Given the description of an element on the screen output the (x, y) to click on. 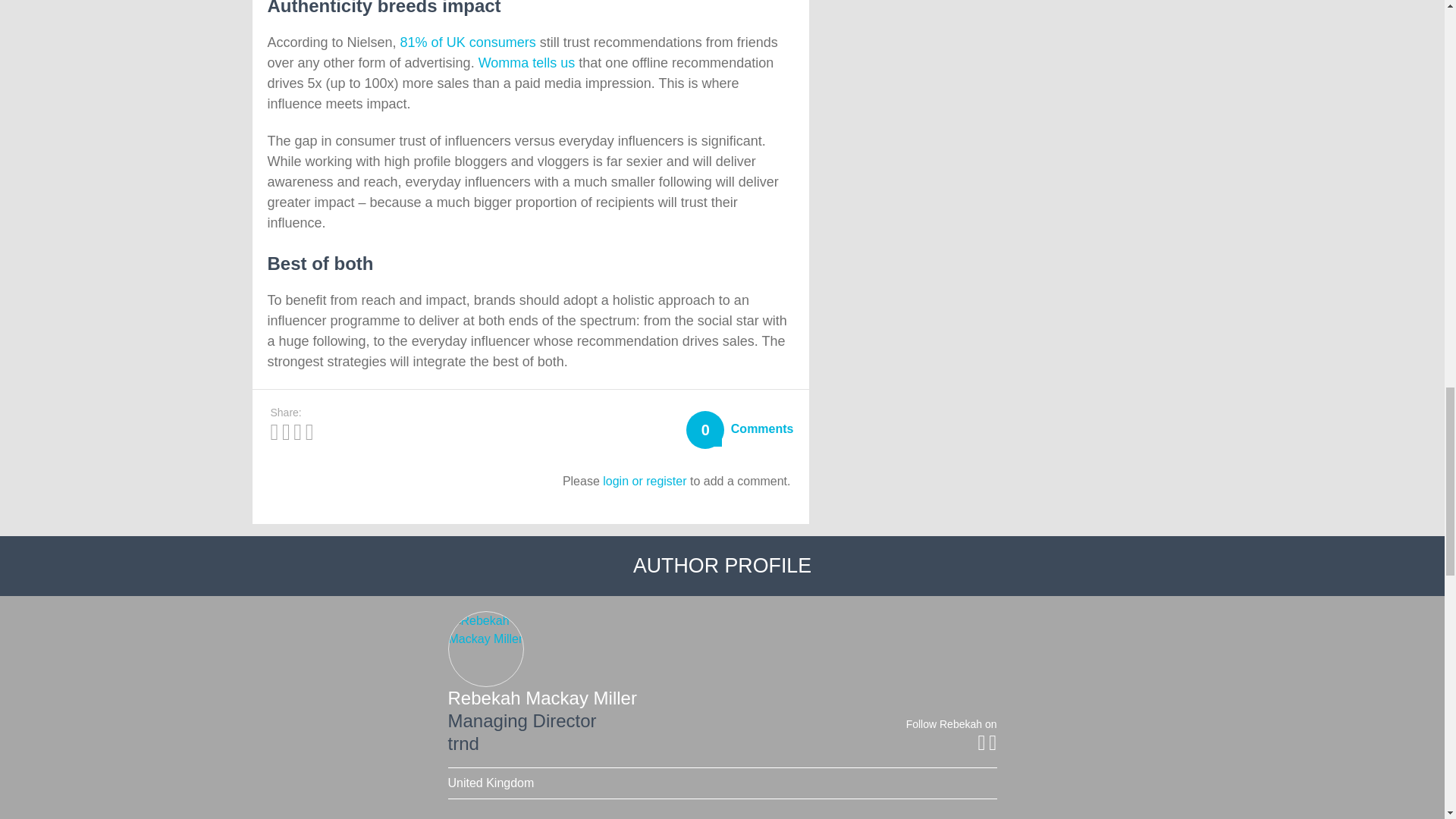
login or register (643, 481)
Womma tells us (527, 62)
